Given the description of an element on the screen output the (x, y) to click on. 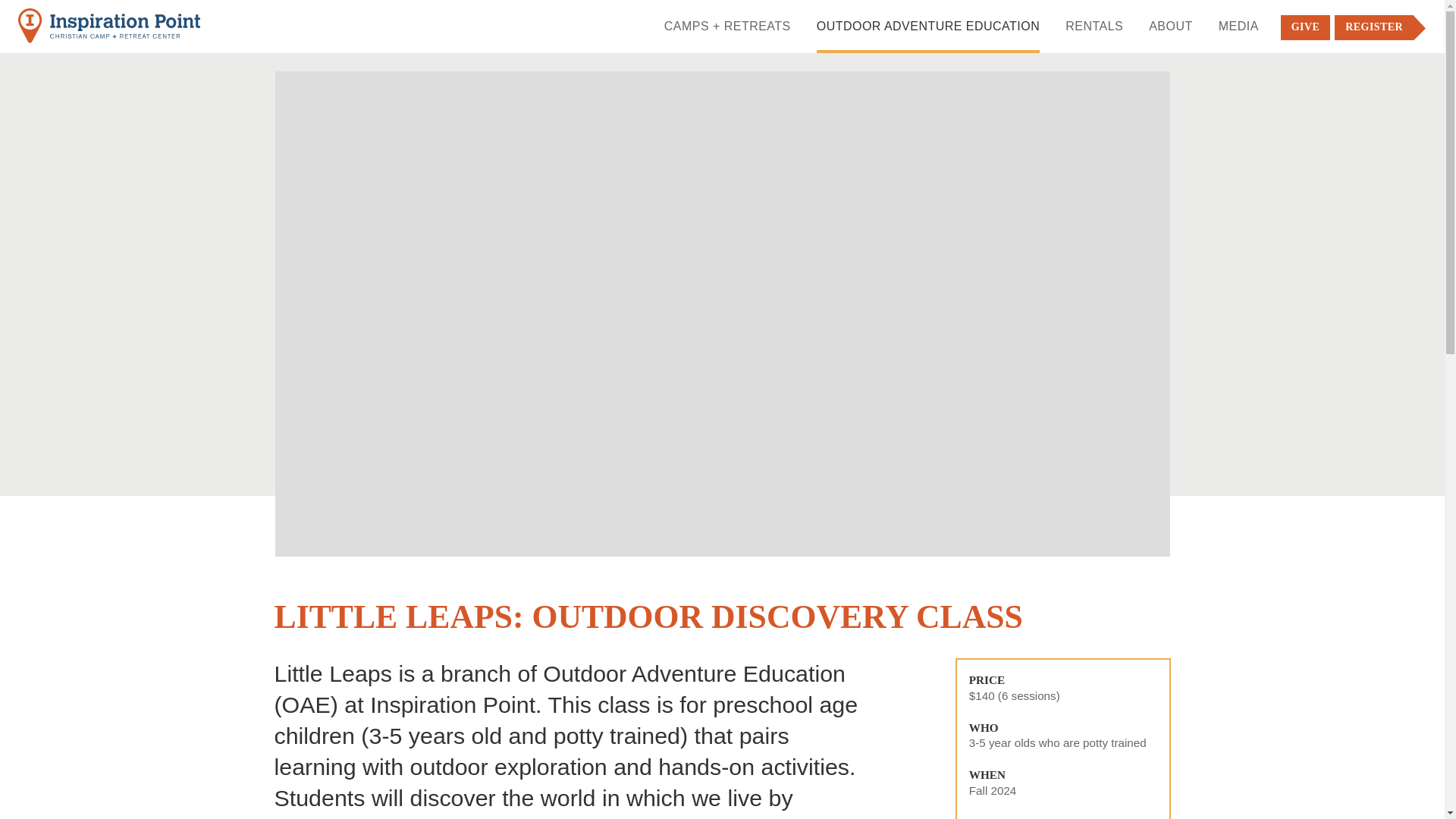
GIVE (1305, 27)
ABOUT (1170, 33)
OUTDOOR ADVENTURE EDUCATION (927, 33)
REGISTER (1374, 27)
MEDIA (1238, 33)
RENTALS (1093, 33)
